Given the description of an element on the screen output the (x, y) to click on. 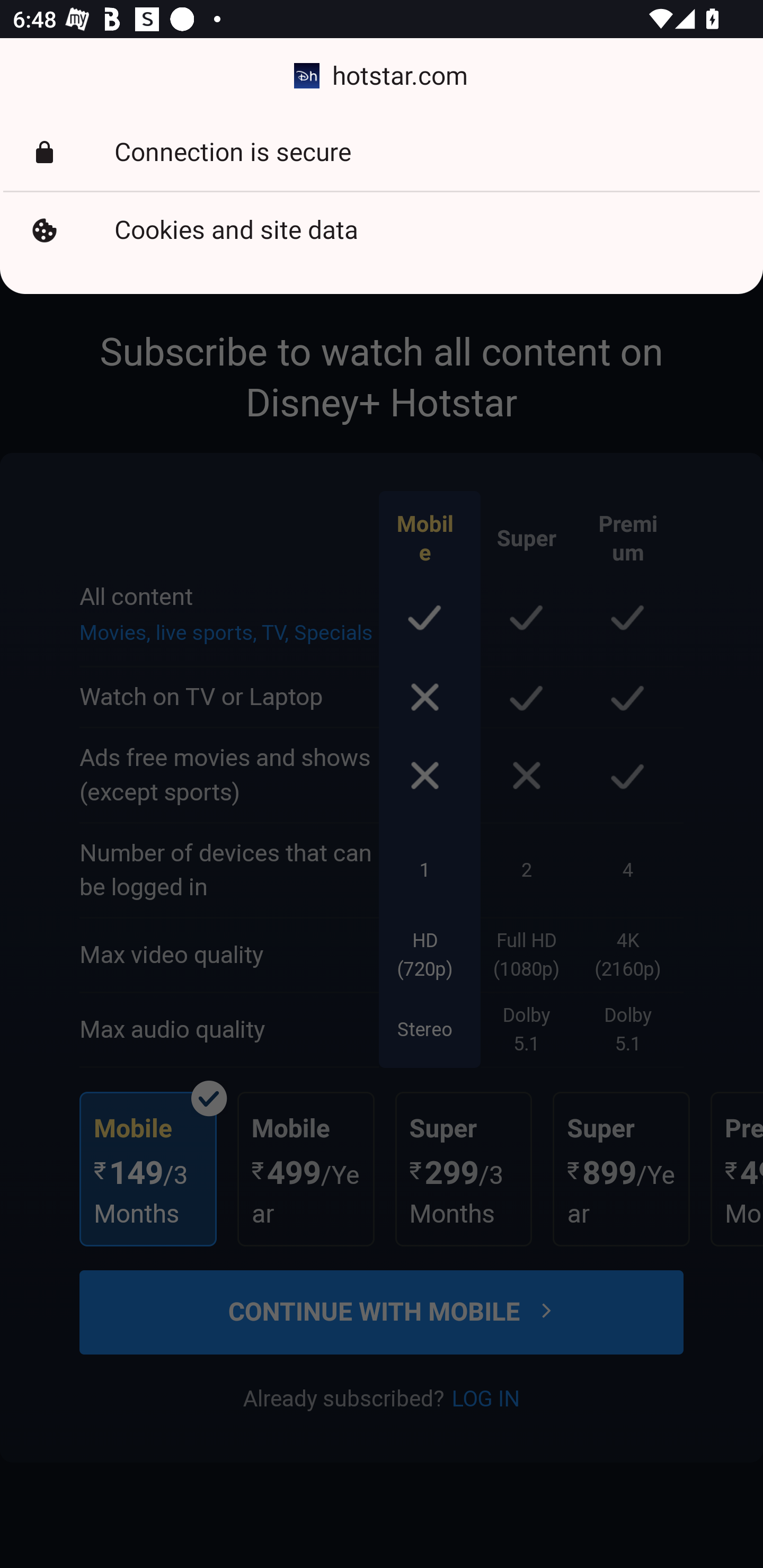
hotstar.com (381, 75)
Connection is secure (381, 152)
Connection is secure (381, 152)
Cookies and site data (381, 230)
